Given the description of an element on the screen output the (x, y) to click on. 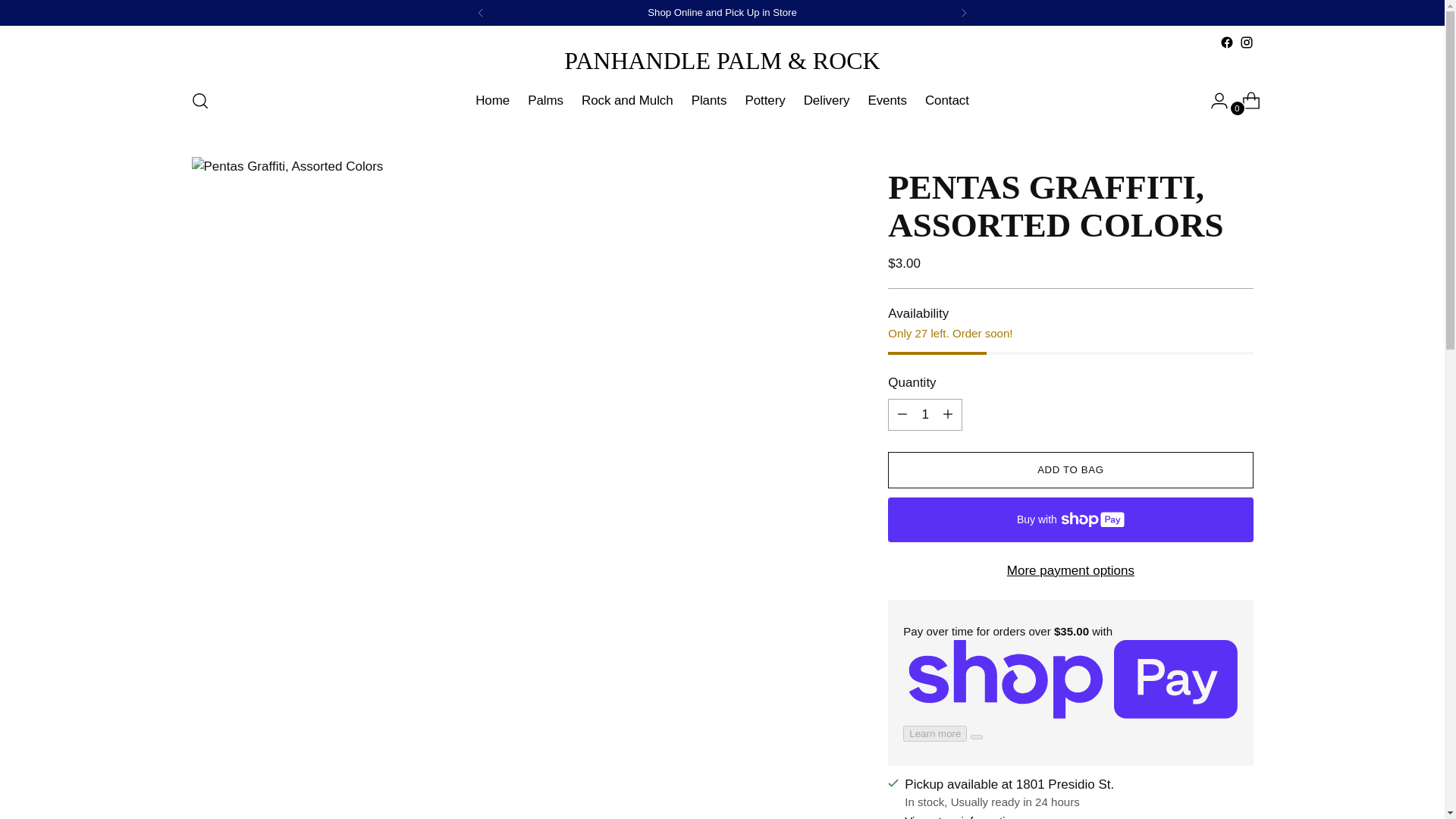
1 (925, 414)
Palms (545, 100)
Plants (708, 100)
Next (963, 12)
Previous (480, 12)
Home (492, 100)
0 (1245, 100)
Contact (946, 100)
Events (886, 100)
Pottery (764, 100)
Delivery (826, 100)
Rock and Mulch (626, 100)
